Given the description of an element on the screen output the (x, y) to click on. 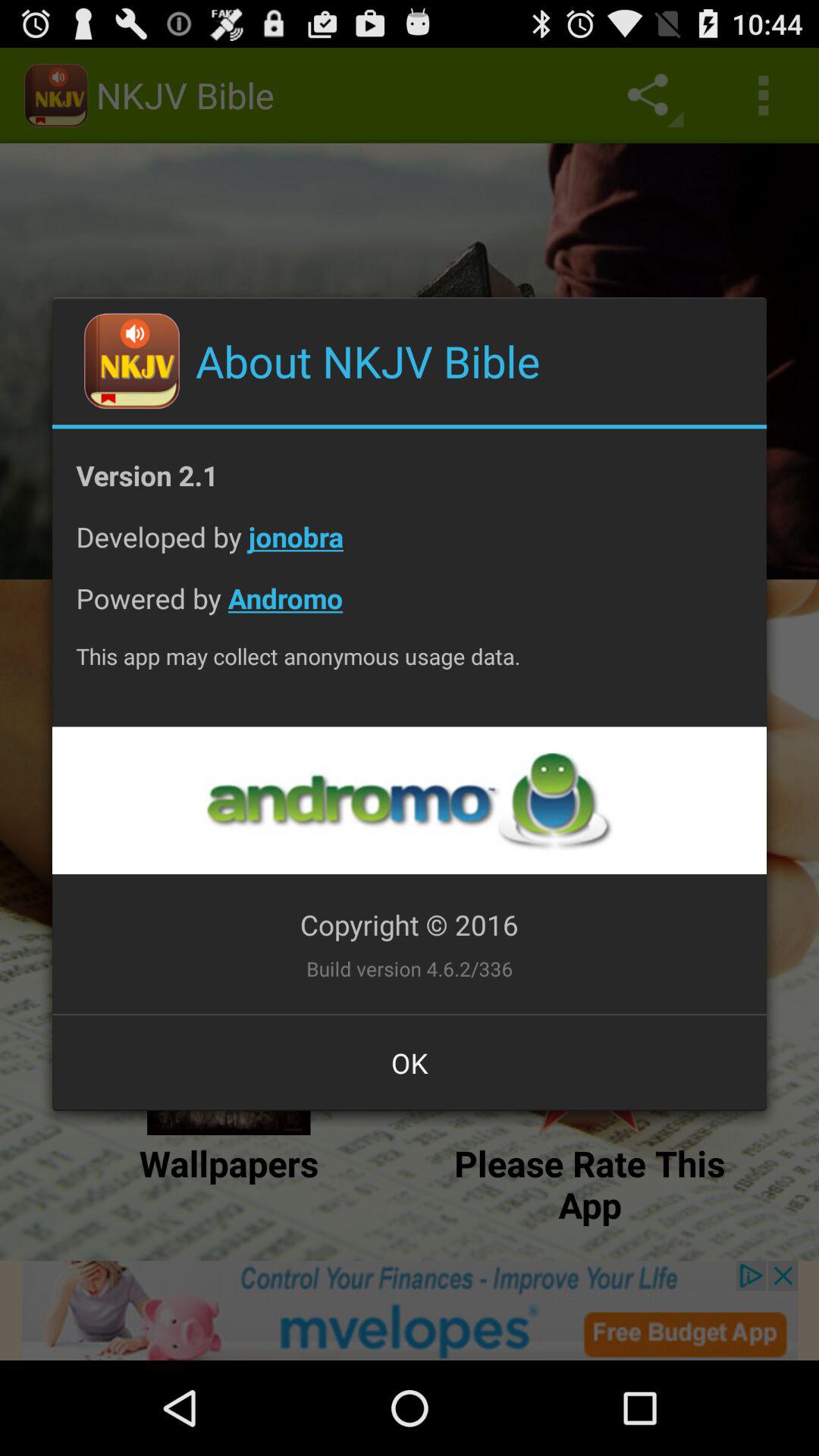
select the item below developed by jonobra app (409, 609)
